Given the description of an element on the screen output the (x, y) to click on. 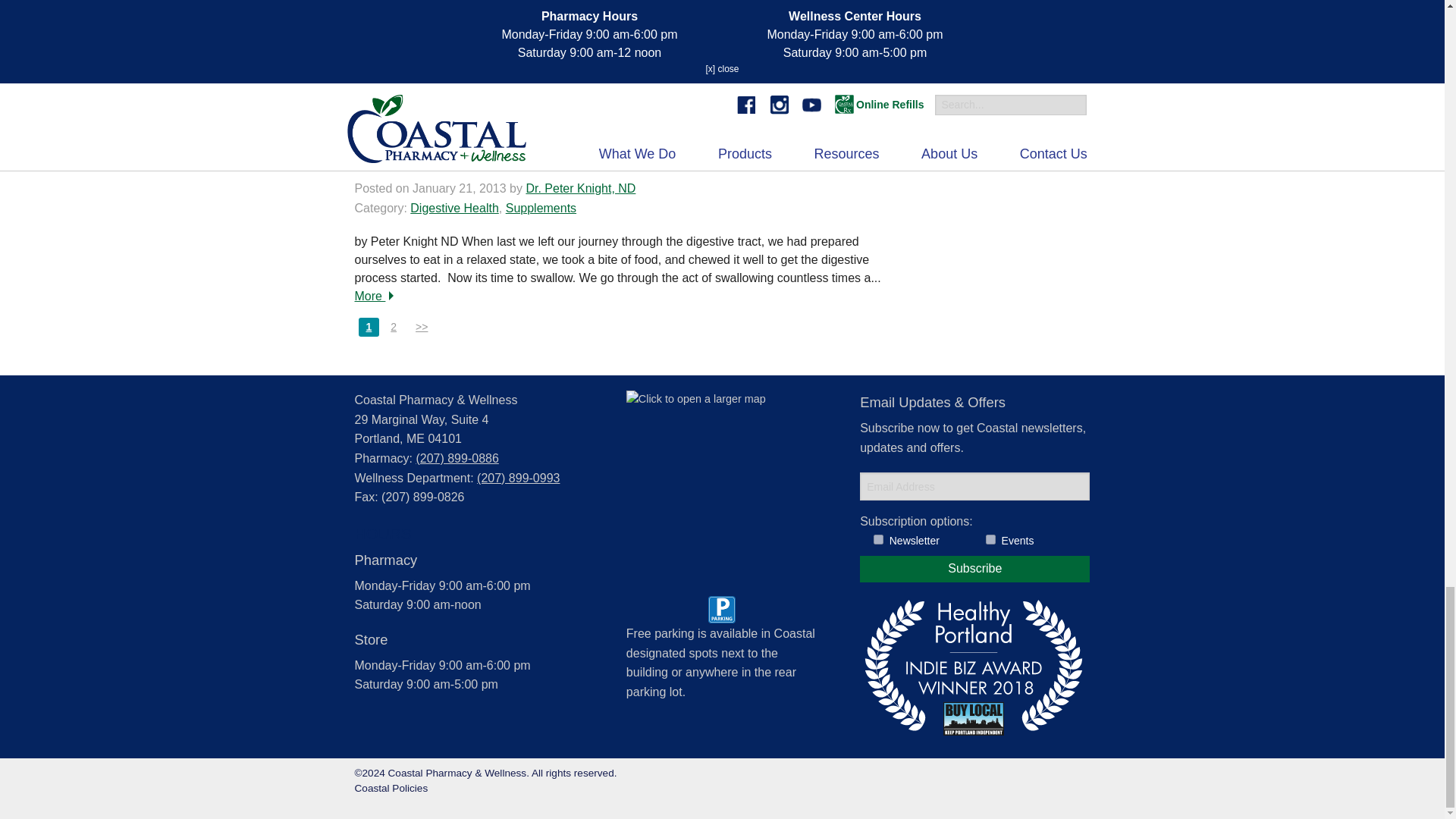
Subscribe (974, 569)
Click to open a larger map (720, 484)
Posts by Dr. Peter Knight, ND (579, 187)
2 (990, 539)
1 (878, 539)
